Given the description of an element on the screen output the (x, y) to click on. 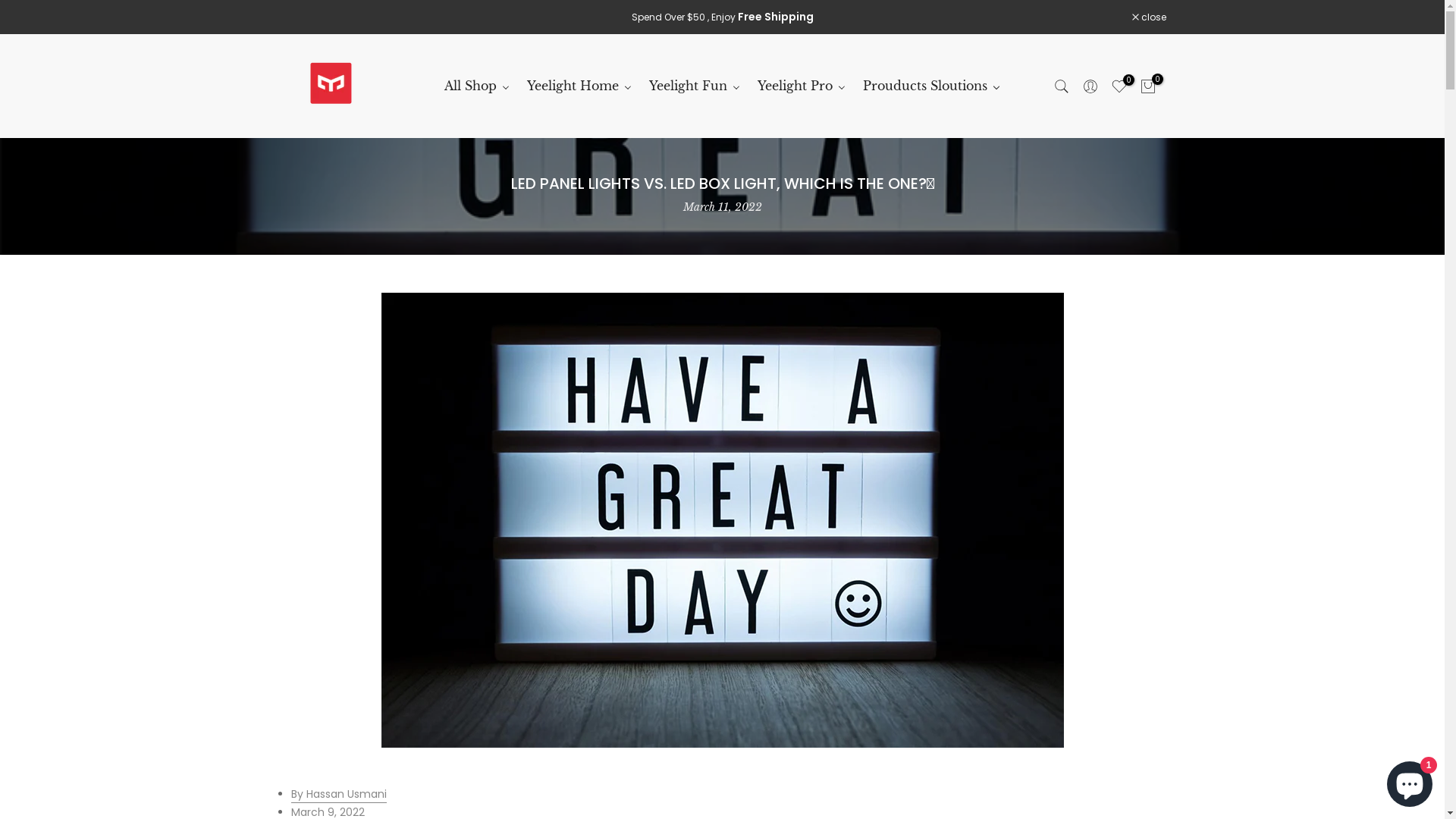
Yeelight Fun Element type: text (694, 86)
Prouducts Sloutions Element type: text (930, 86)
Shopify online store chat Element type: hover (1409, 780)
close Element type: text (1148, 16)
Yeelight Pro Element type: text (801, 86)
Yeelight Home Element type: text (579, 86)
By Hassan Usmani Element type: text (338, 794)
0 Element type: text (1147, 85)
All Shop Element type: text (476, 86)
0 Element type: text (1118, 85)
